Given the description of an element on the screen output the (x, y) to click on. 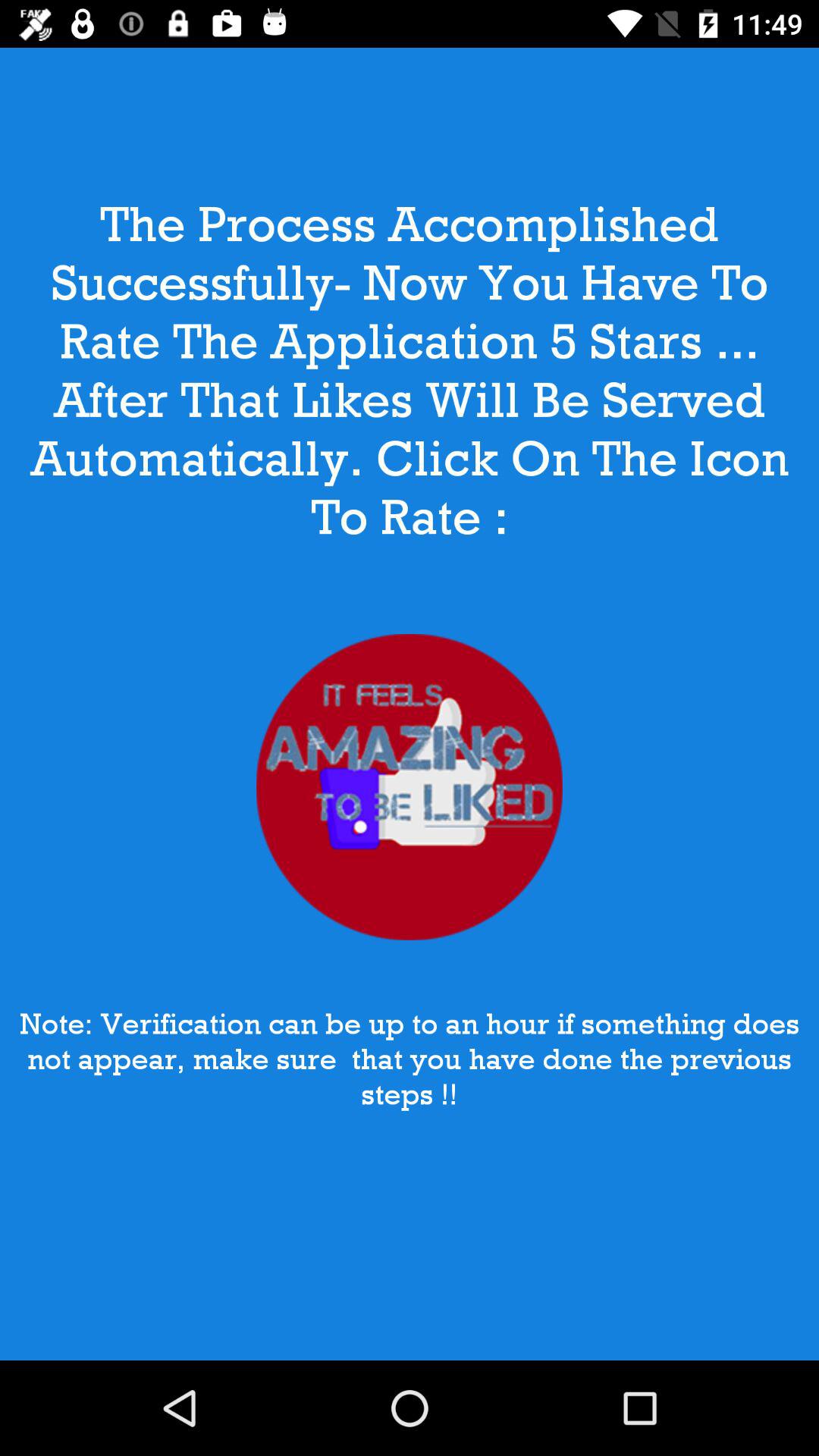
choose the app below the process accomplished app (409, 787)
